Given the description of an element on the screen output the (x, y) to click on. 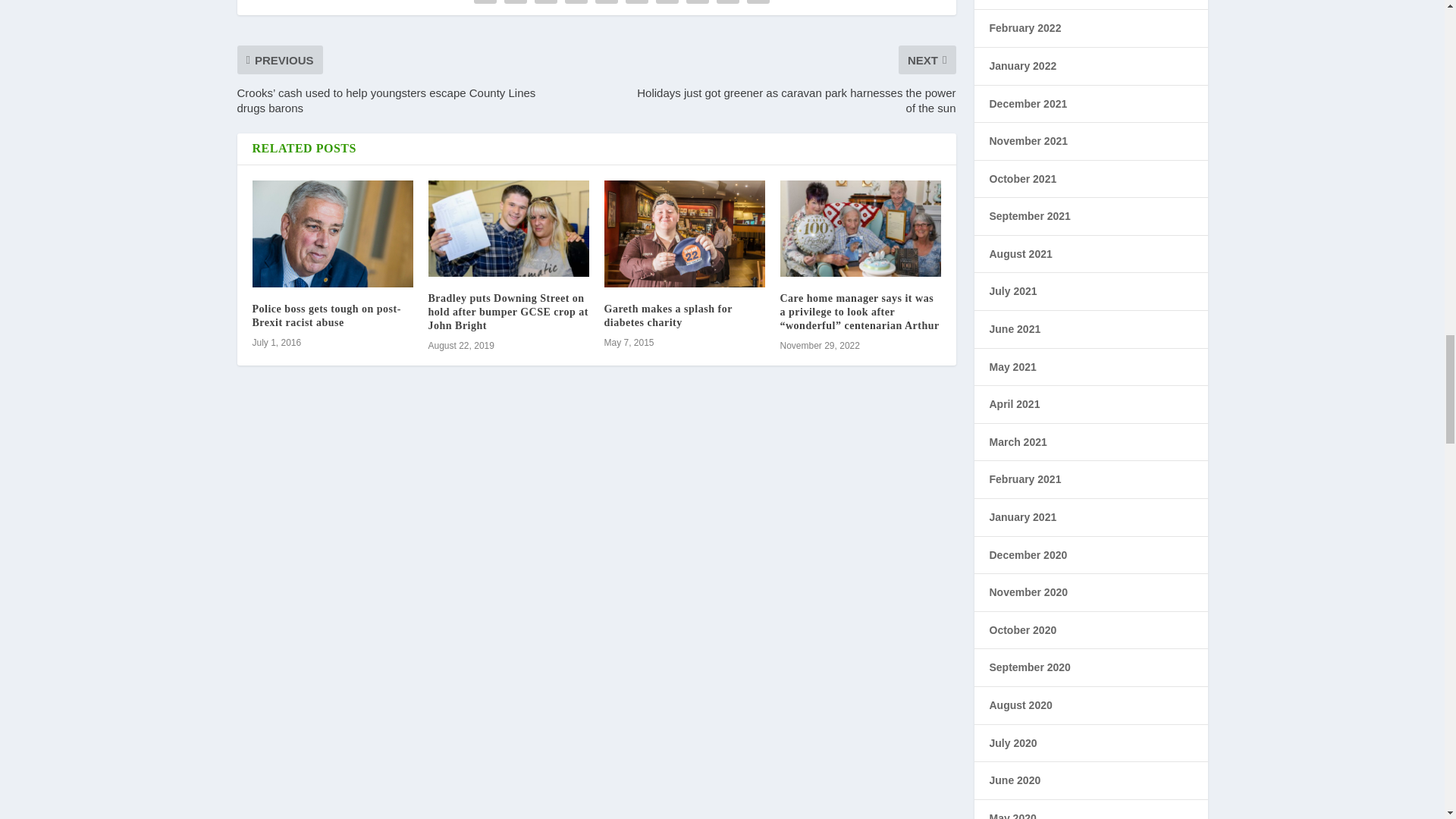
Gareth makes a splash for diabetes charity (684, 233)
Police boss gets tough on post-Brexit racist abuse (331, 233)
Police boss gets tough on post-Brexit racist abuse (325, 315)
